Given the description of an element on the screen output the (x, y) to click on. 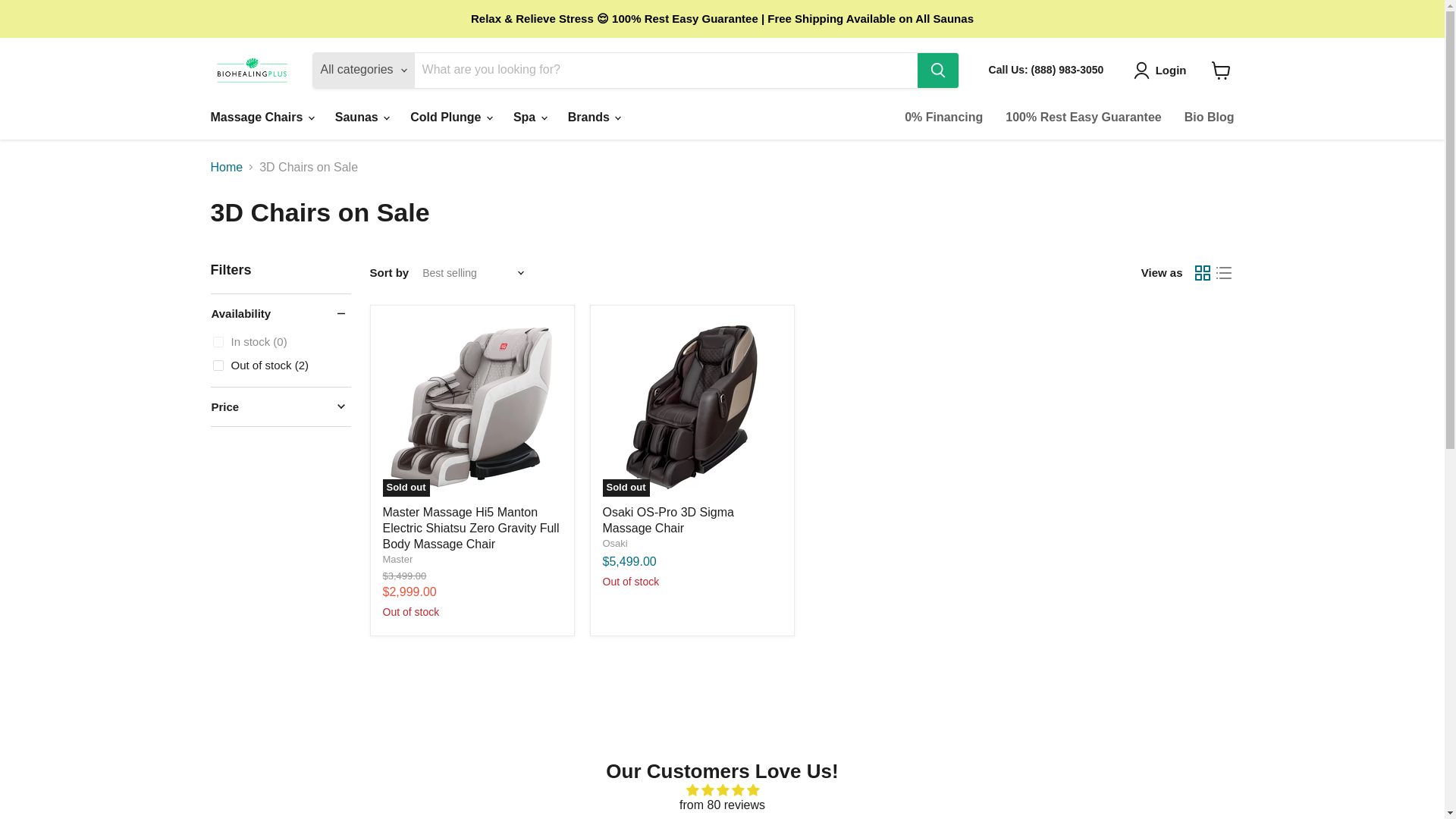
Master (396, 559)
Osaki (614, 542)
Login (1163, 70)
View cart (1221, 69)
